Given the description of an element on the screen output the (x, y) to click on. 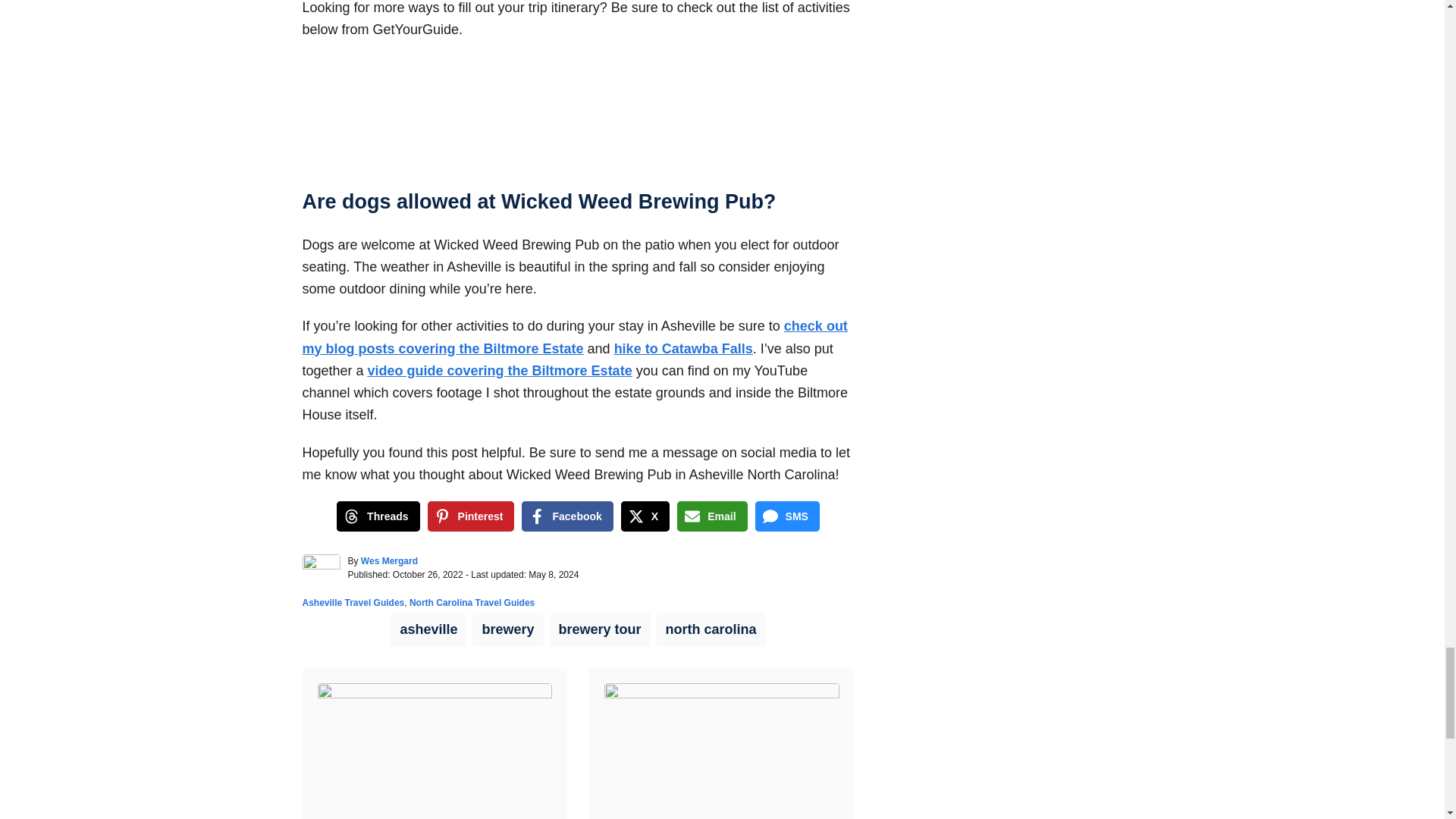
GetYourGuide Widget (577, 113)
